Given the description of an element on the screen output the (x, y) to click on. 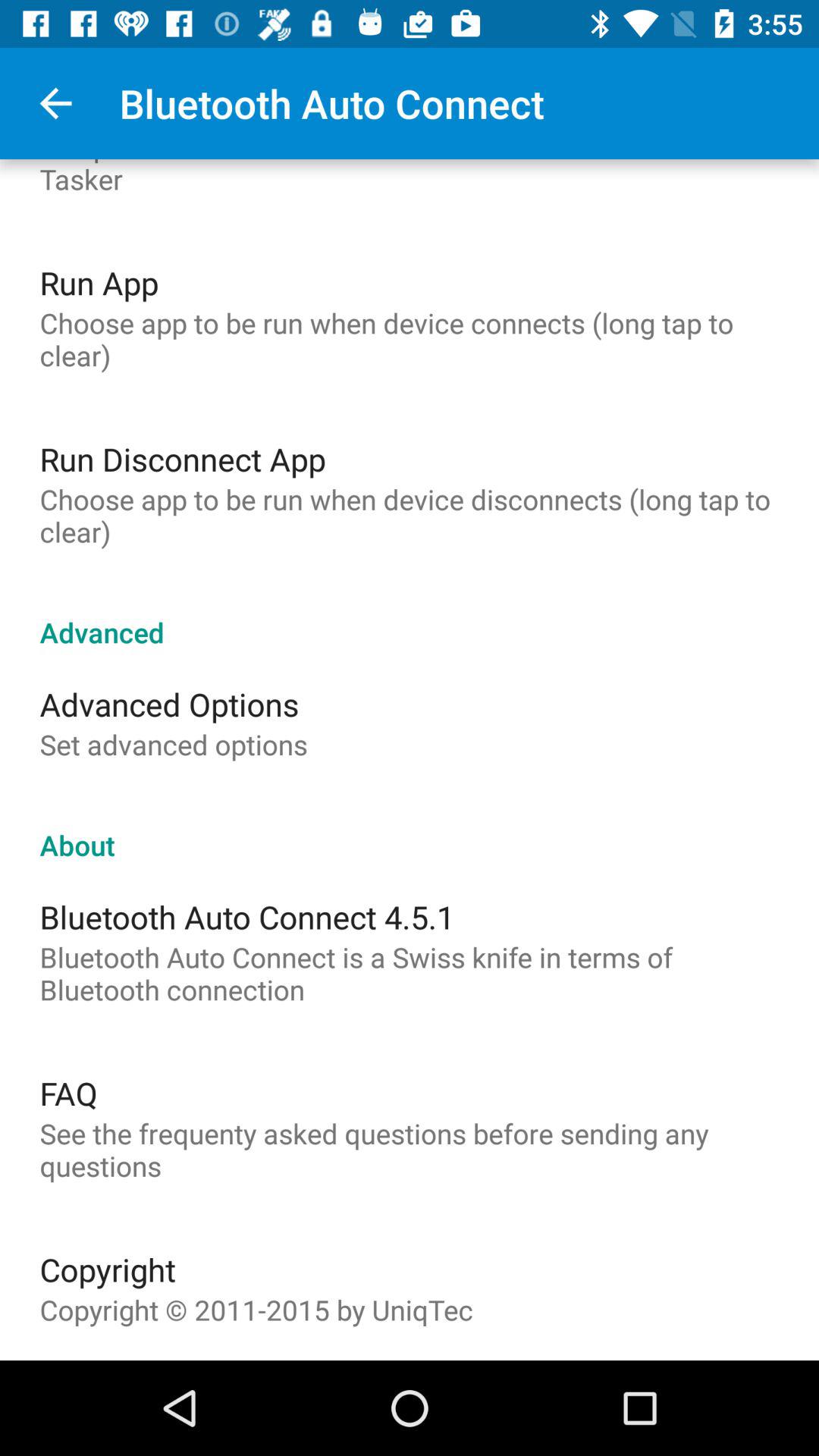
press item above the run app item (409, 178)
